Given the description of an element on the screen output the (x, y) to click on. 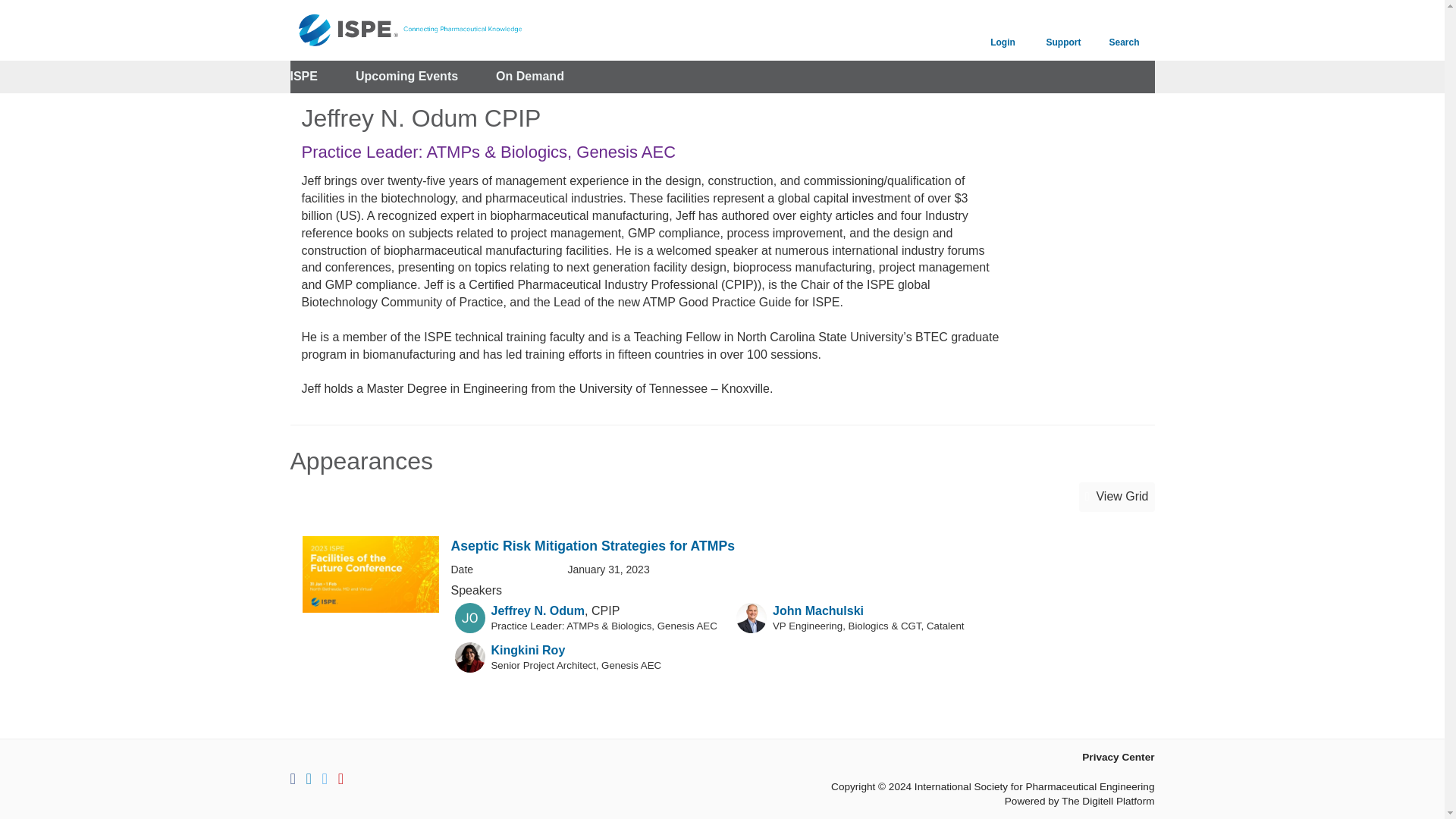
Upcoming Events (406, 76)
Support (1062, 30)
Support (1062, 30)
  View Grid (1116, 496)
Search (1123, 30)
John Machulski (818, 610)
On Demand (530, 76)
Jeffrey N. Odum (538, 610)
Aseptic Risk Mitigation Strategies for ATMPs (591, 545)
Speaker Image for John Machulski (751, 617)
ISPE (303, 76)
Privacy Center (1117, 756)
Speaker Image for Kingkini Roy (469, 657)
Speaker Image for Jeffrey Odum (469, 617)
Search (1123, 30)
